Given the description of an element on the screen output the (x, y) to click on. 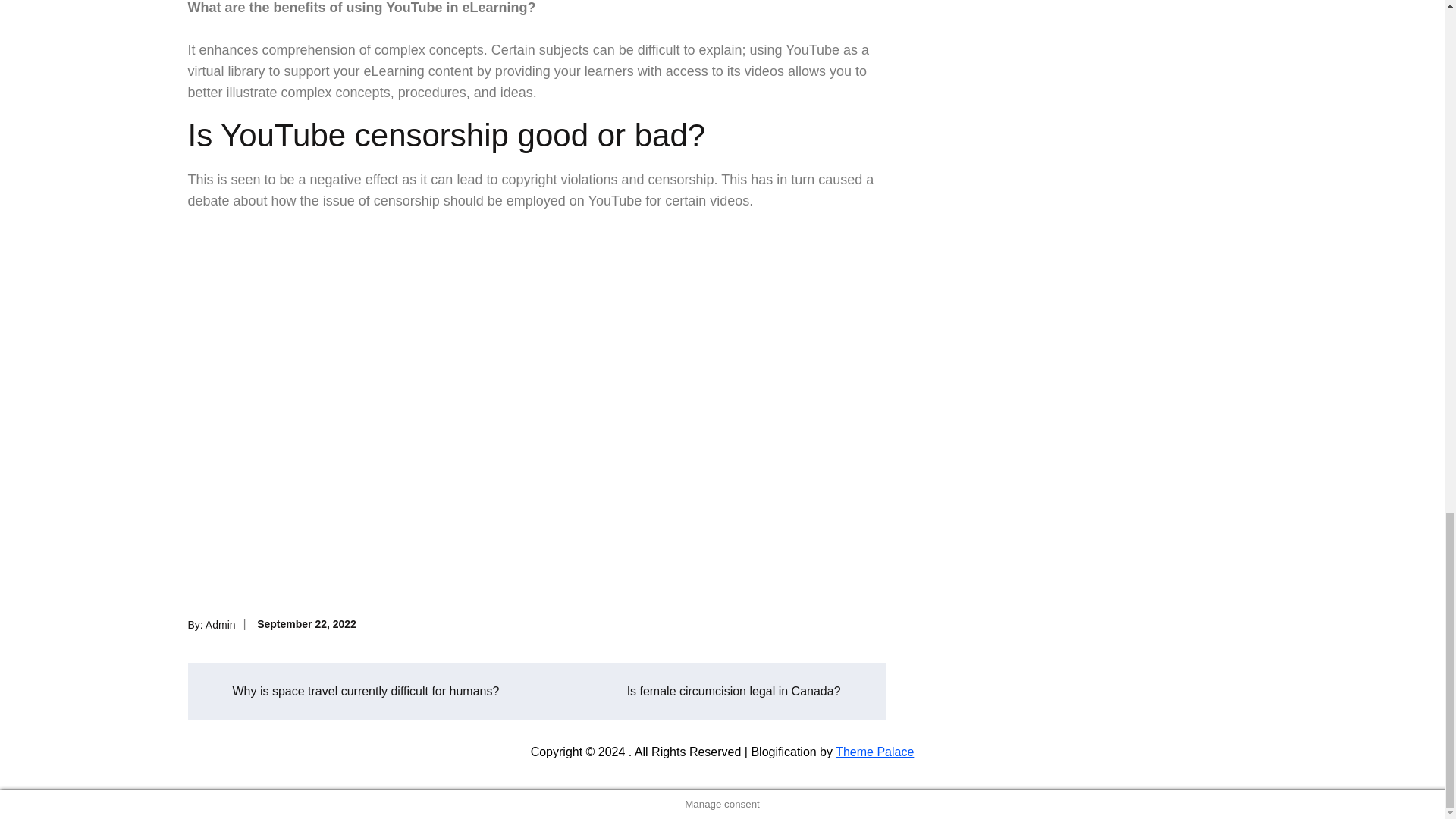
September 22, 2022 (306, 623)
Admin (220, 623)
